Given the description of an element on the screen output the (x, y) to click on. 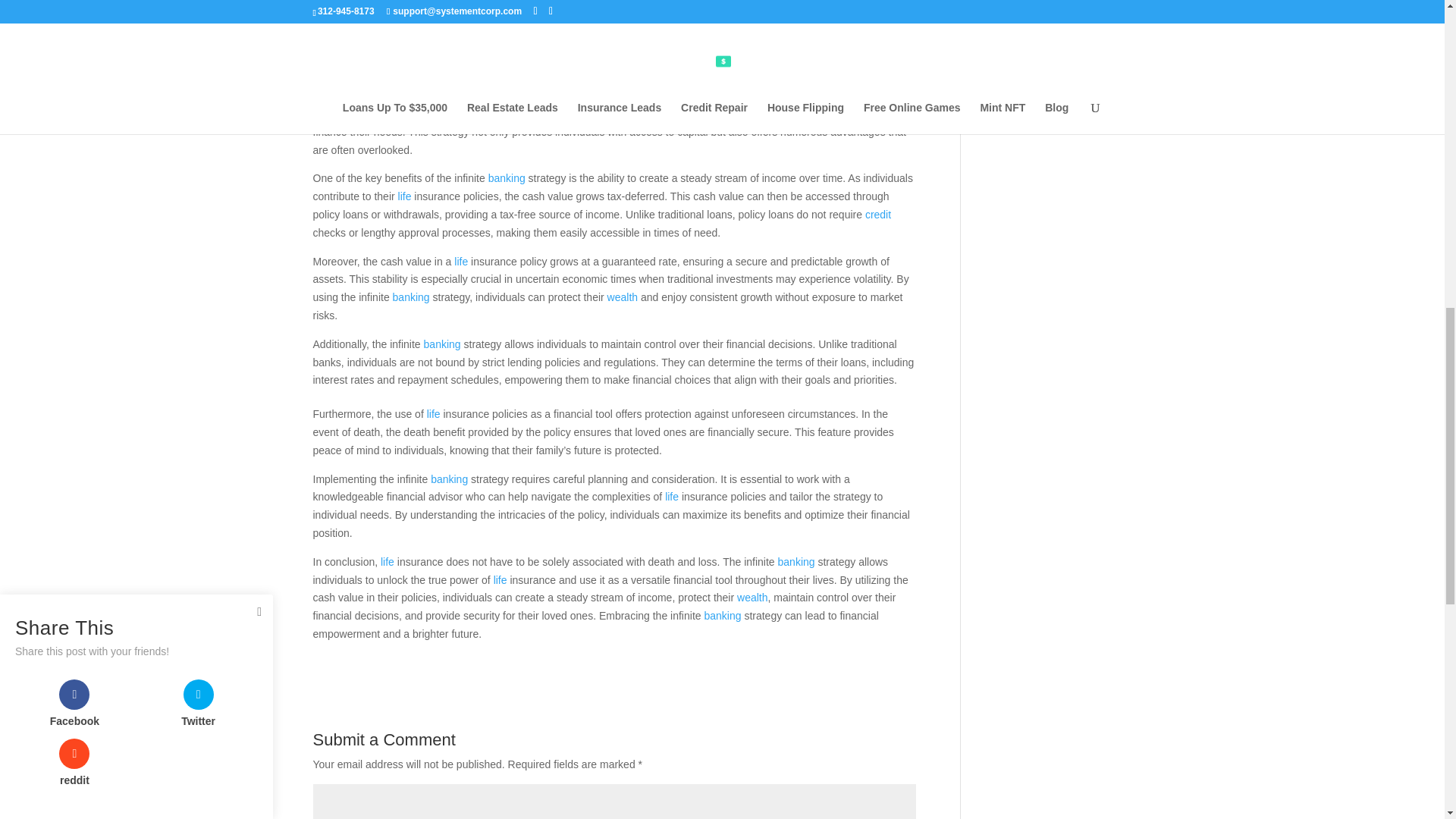
credit (877, 214)
banking (438, 95)
life (460, 261)
credit (534, 113)
banking (411, 297)
banking (682, 12)
life (782, 113)
banking (506, 177)
life (466, 30)
life (712, 49)
life (404, 196)
